Given the description of an element on the screen output the (x, y) to click on. 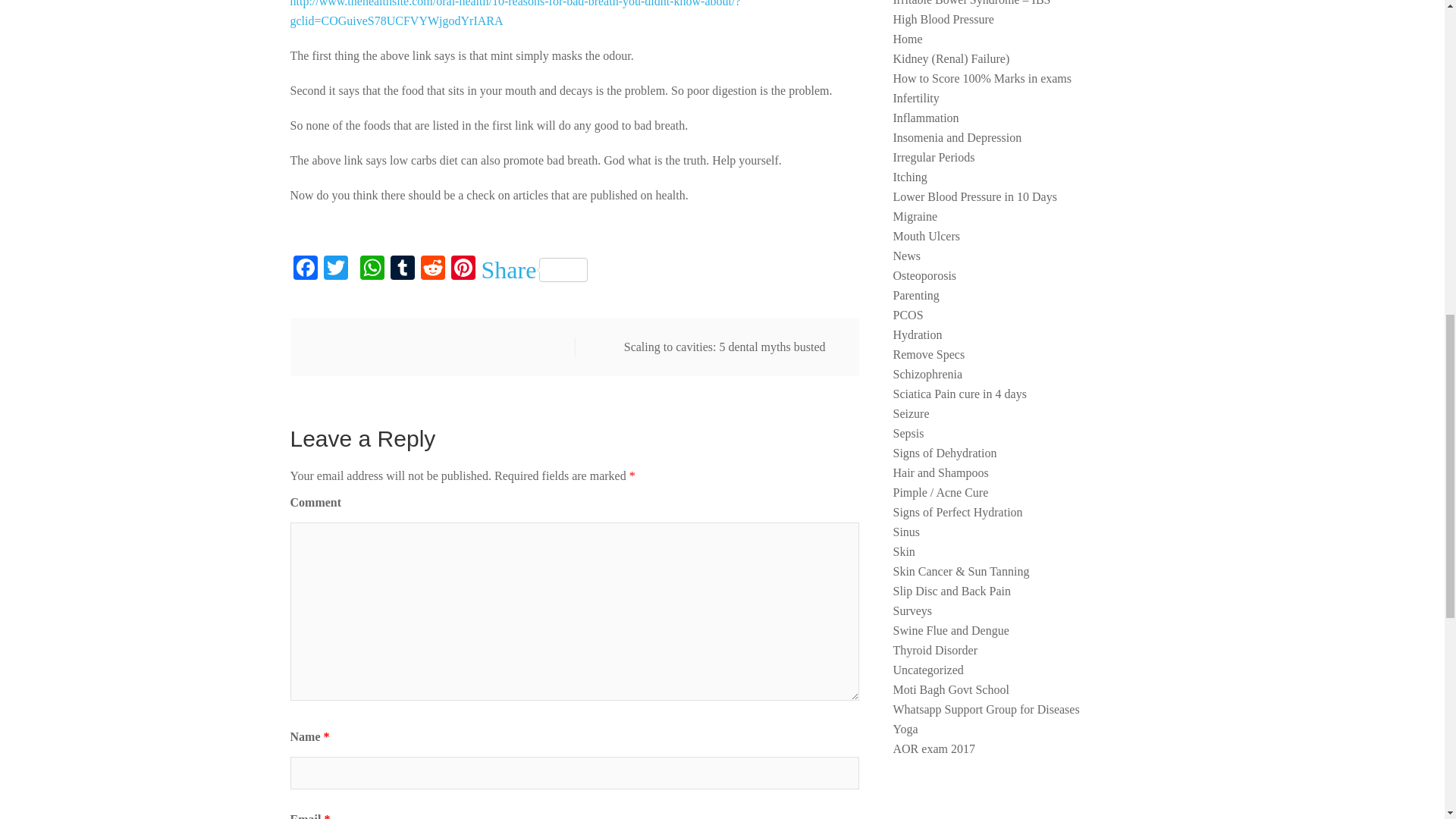
WhatsApp (371, 269)
WhatsApp (371, 269)
Facebook (304, 269)
Tumblr (401, 269)
Twitter (335, 269)
Facebook (304, 269)
Reddit (431, 269)
Twitter (335, 269)
Share (534, 269)
Pinterest (461, 269)
